Given the description of an element on the screen output the (x, y) to click on. 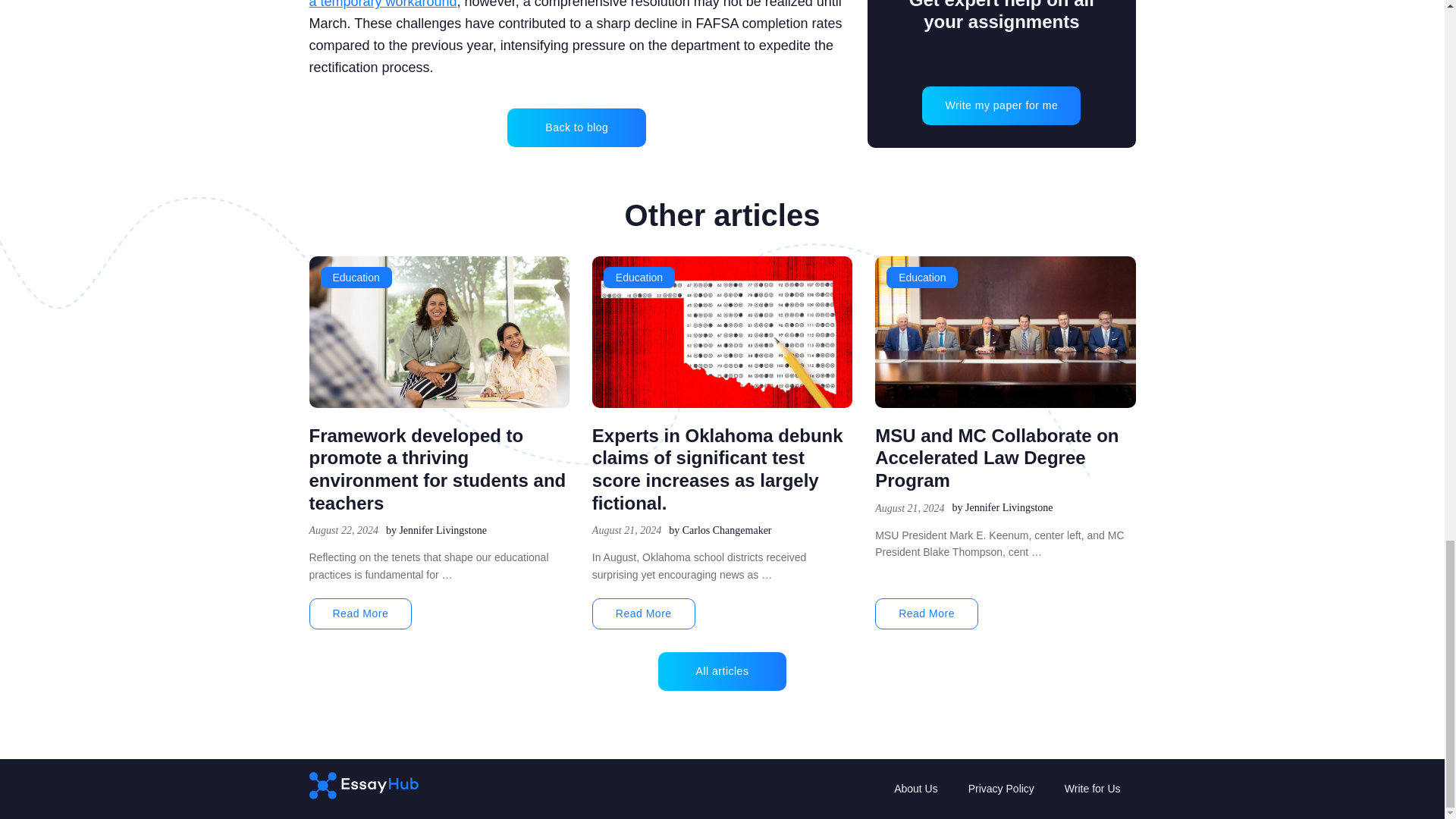
Education (639, 277)
by Jennifer Livingstone (435, 530)
Education (355, 277)
Education (922, 277)
by Carlos Changemaker (719, 530)
Read More (360, 613)
Read More (926, 613)
Privacy Policy (1001, 788)
